Given the description of an element on the screen output the (x, y) to click on. 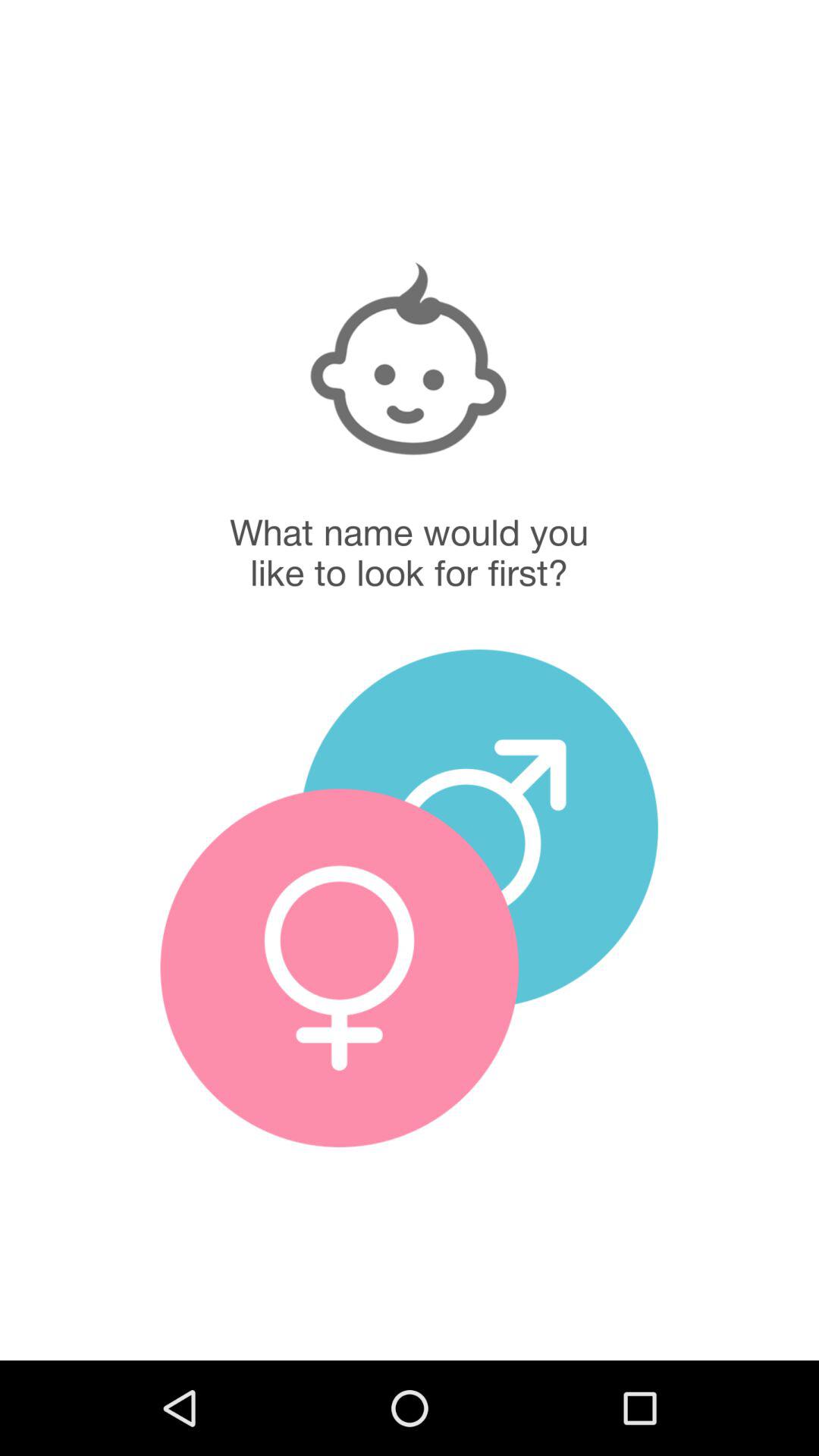
girl names (339, 967)
